Given the description of an element on the screen output the (x, y) to click on. 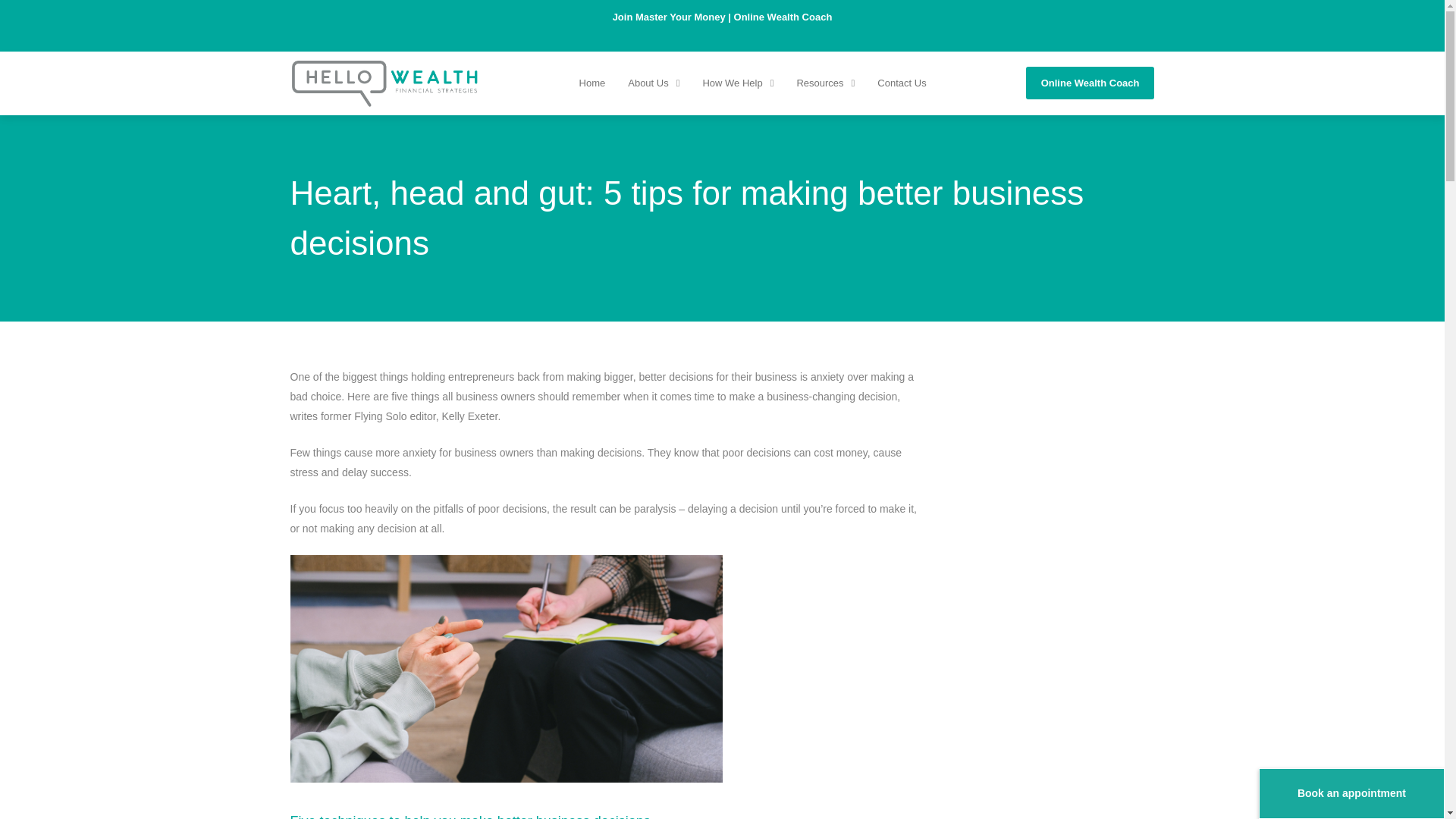
About Us (653, 83)
Contact Us (901, 83)
How We Help (737, 83)
Resources (825, 83)
